Given the description of an element on the screen output the (x, y) to click on. 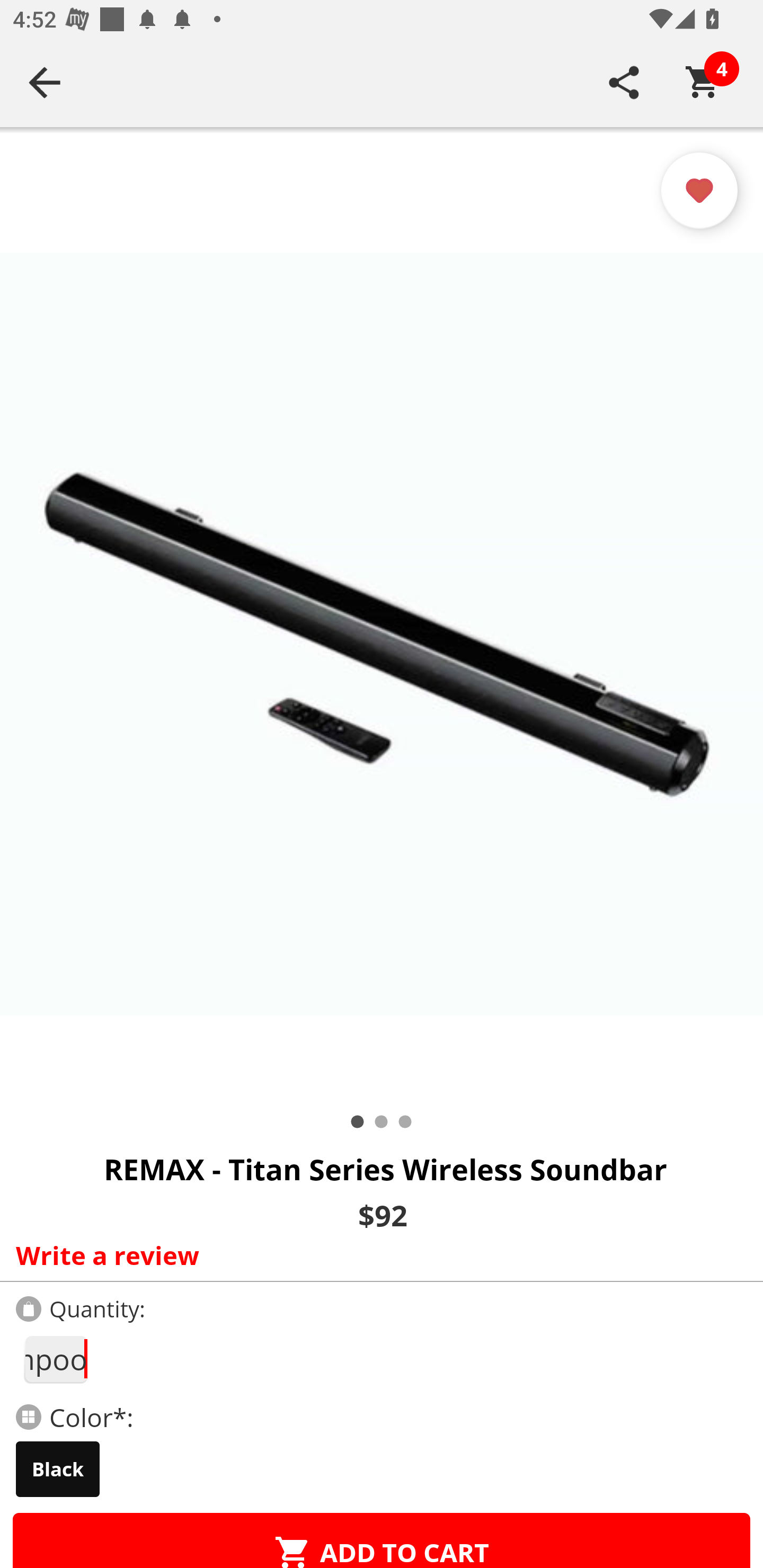
Navigate up (44, 82)
SHARE (623, 82)
Cart (703, 81)
Write a review (377, 1255)
1chocolateshampoo (55, 1358)
Black (57, 1468)
ADD TO CART (381, 1540)
